Given the description of an element on the screen output the (x, y) to click on. 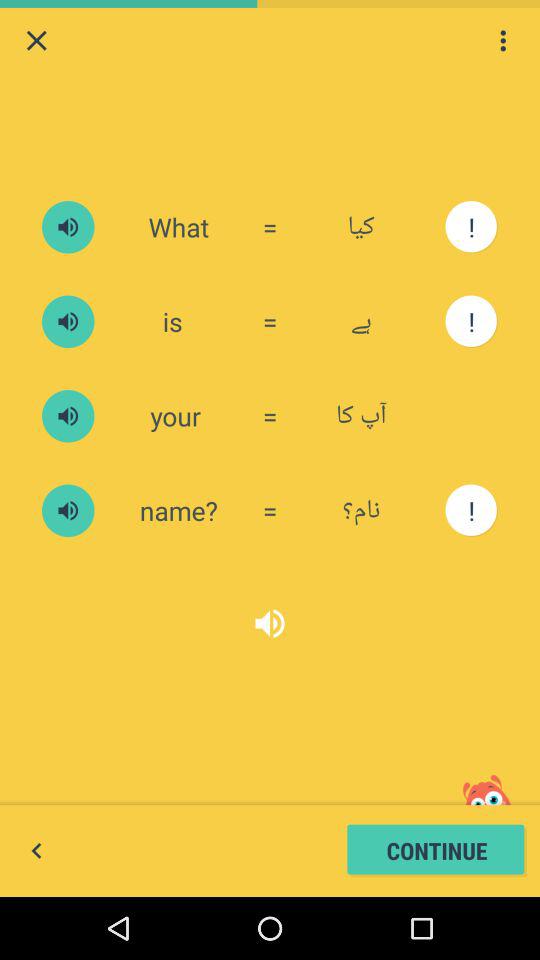
close screen (36, 40)
